Given the description of an element on the screen output the (x, y) to click on. 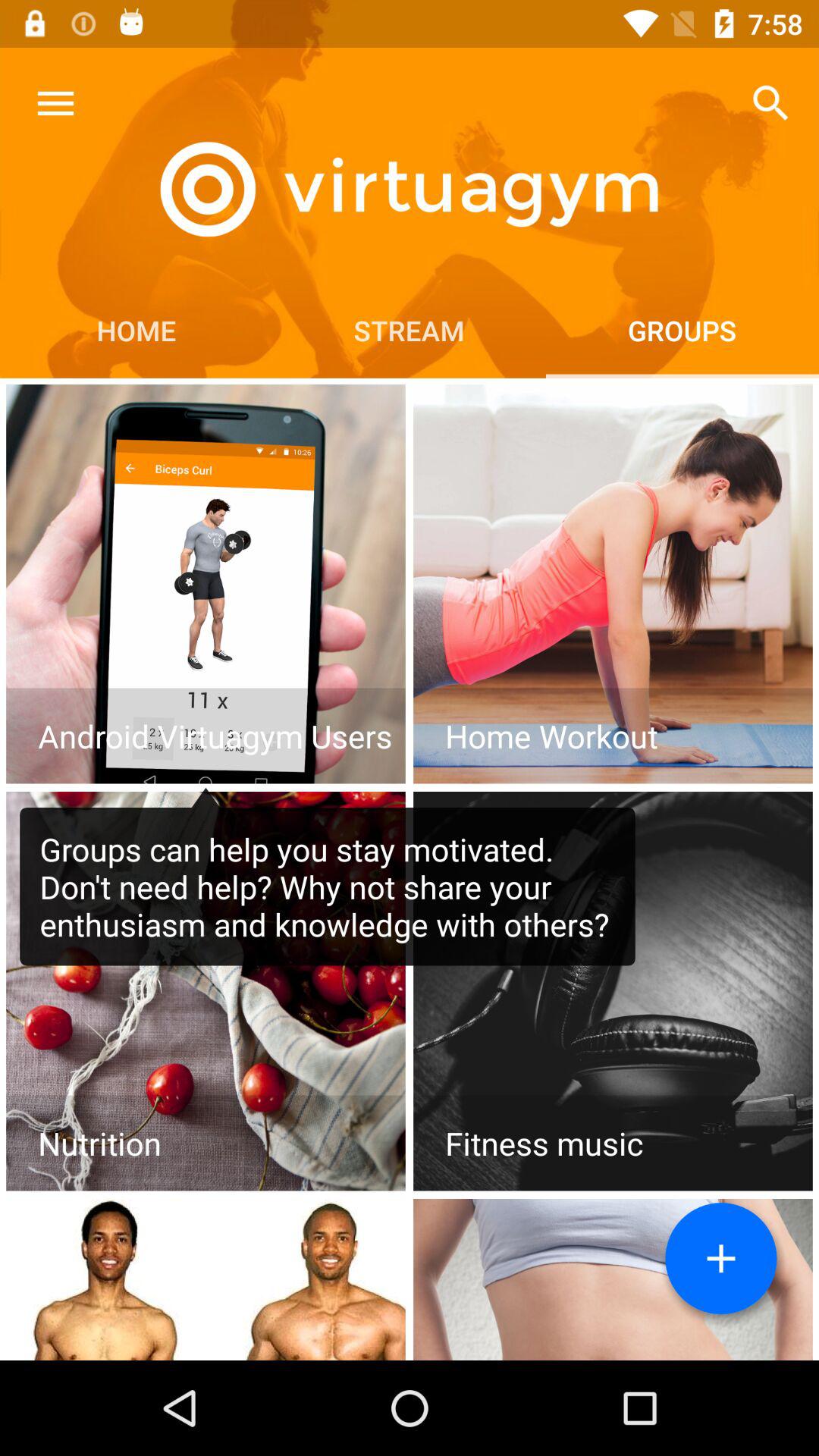
select home workout (612, 583)
